Given the description of an element on the screen output the (x, y) to click on. 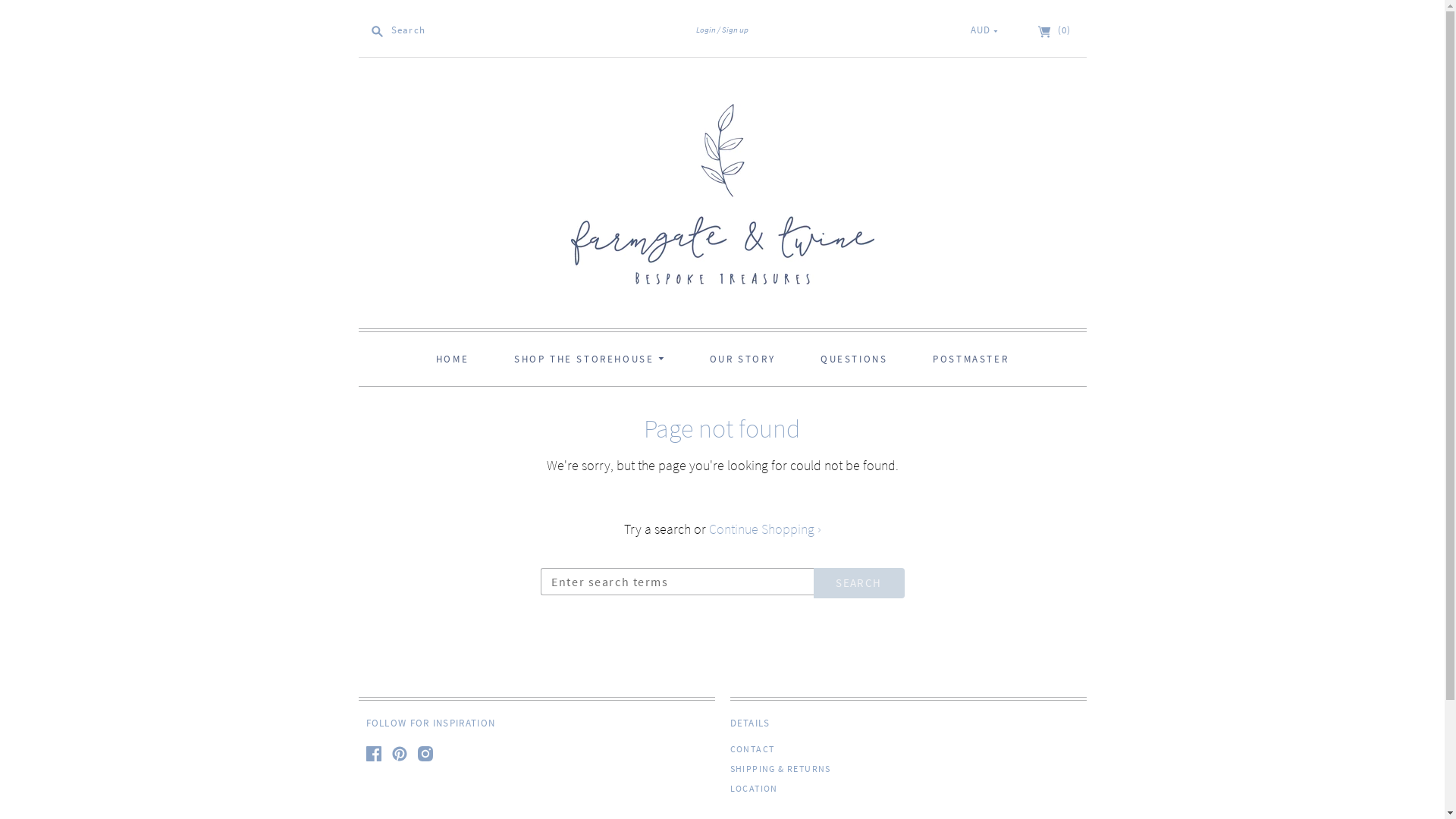
CONTACT Element type: text (751, 748)
Sign up Element type: text (732, 29)
LOCATION Element type: text (753, 787)
SHOP THE STOREHOUSE Element type: text (589, 358)
HOME Element type: text (452, 358)
SHIPPING & RETURNS Element type: text (779, 768)
(0) Element type: text (1054, 29)
OUR STORY Element type: text (742, 358)
QUESTIONS Element type: text (853, 358)
Search Element type: text (857, 582)
Login Element type: text (705, 29)
POSTMASTER Element type: text (970, 358)
